Given the description of an element on the screen output the (x, y) to click on. 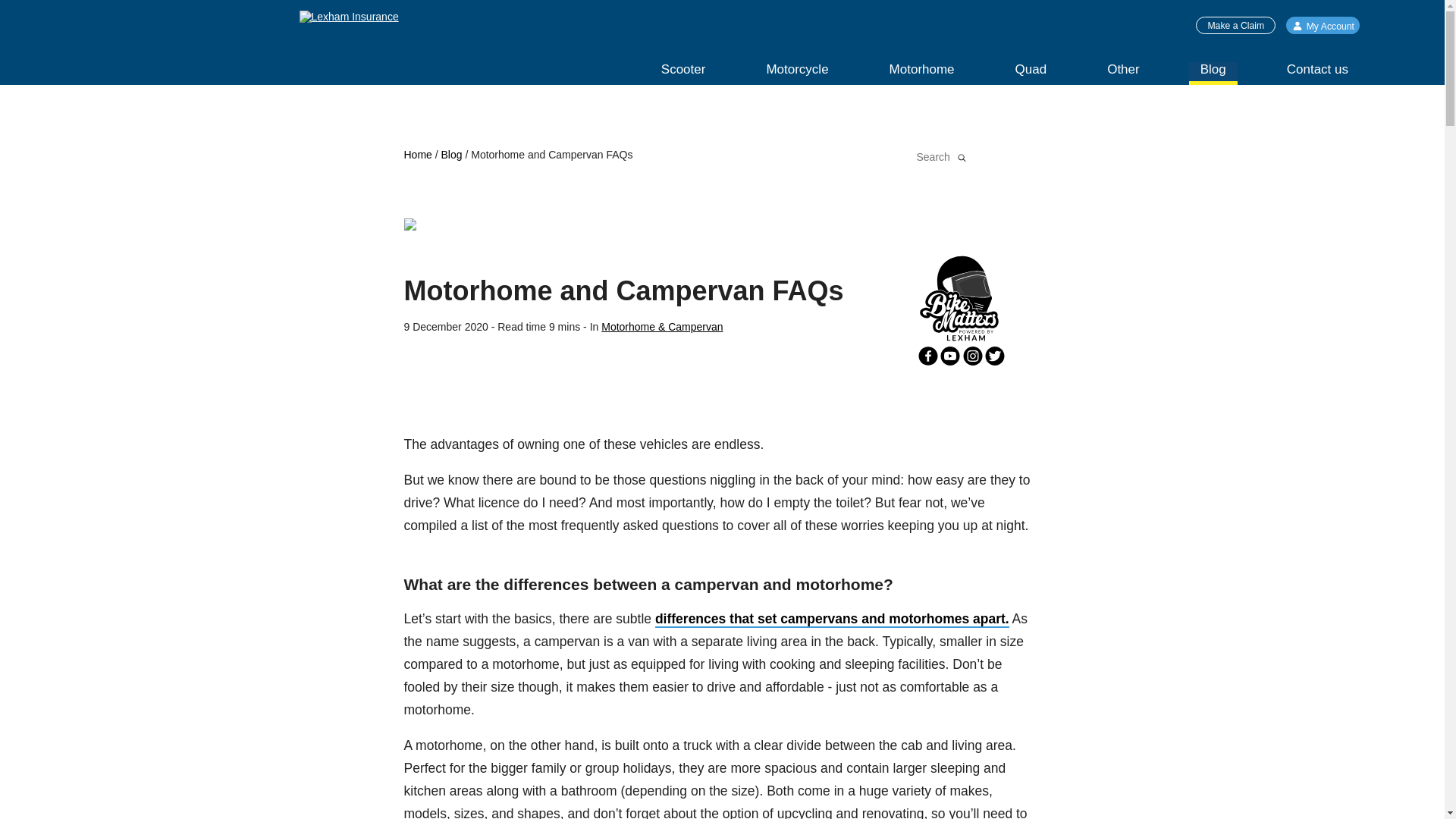
Motorhome (921, 73)
Other (1123, 73)
Scooter (683, 73)
Contact us (1317, 73)
Motorcycle (797, 73)
Blog (1213, 73)
What's the difference between a campervan and a motorhome? (832, 619)
Make a Claim (1235, 25)
Quad (1031, 73)
